Given the description of an element on the screen output the (x, y) to click on. 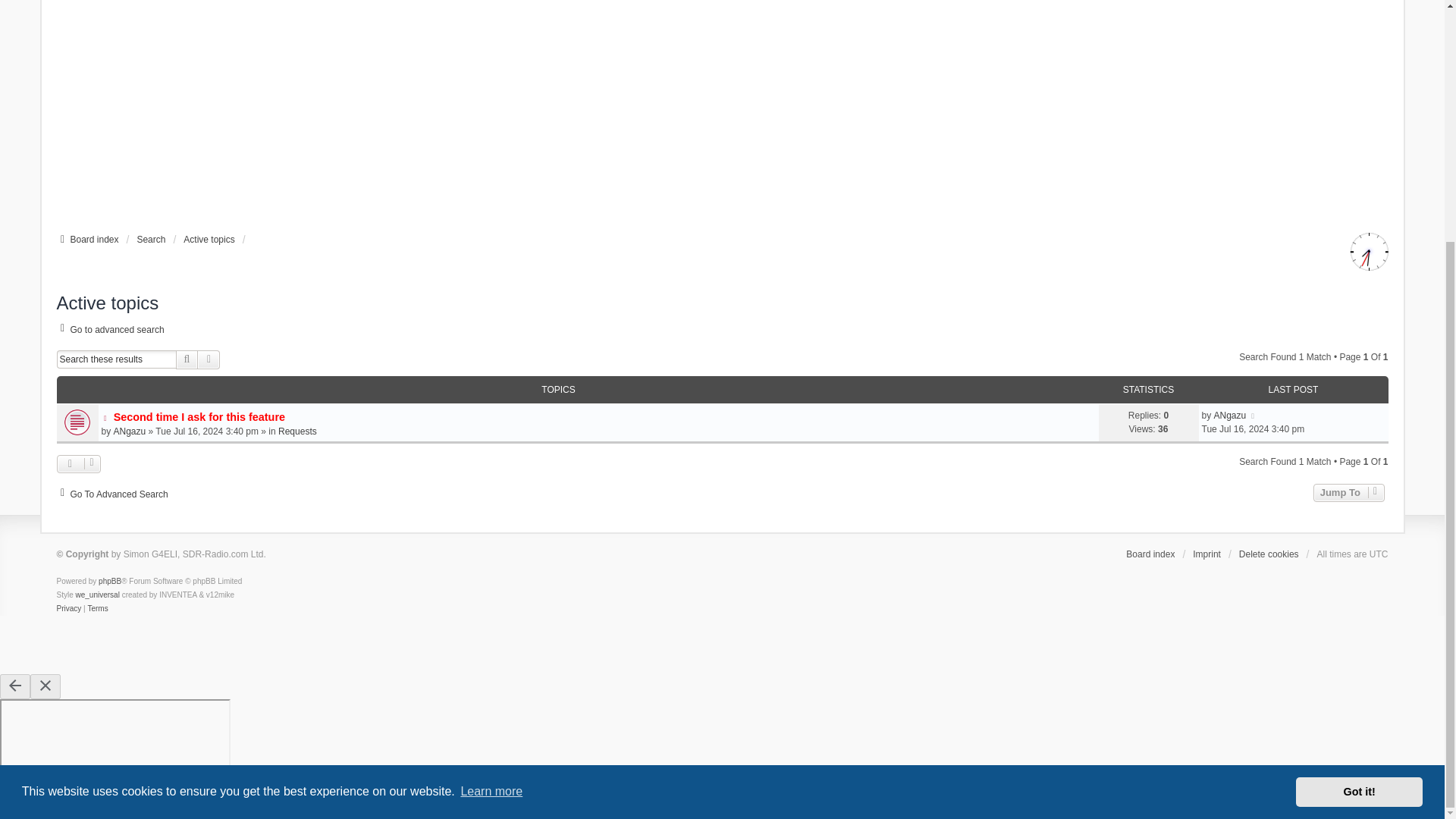
Board index (86, 239)
Search (187, 359)
Advanced search (208, 359)
Search (150, 239)
Go to advanced search (109, 329)
Requests (297, 431)
ANgazu (130, 431)
Go To Advanced Search (111, 494)
Board index (86, 239)
Search (187, 359)
Active topics (208, 239)
Unread posts (721, 422)
Search (150, 239)
ANgazu (1230, 415)
